Given the description of an element on the screen output the (x, y) to click on. 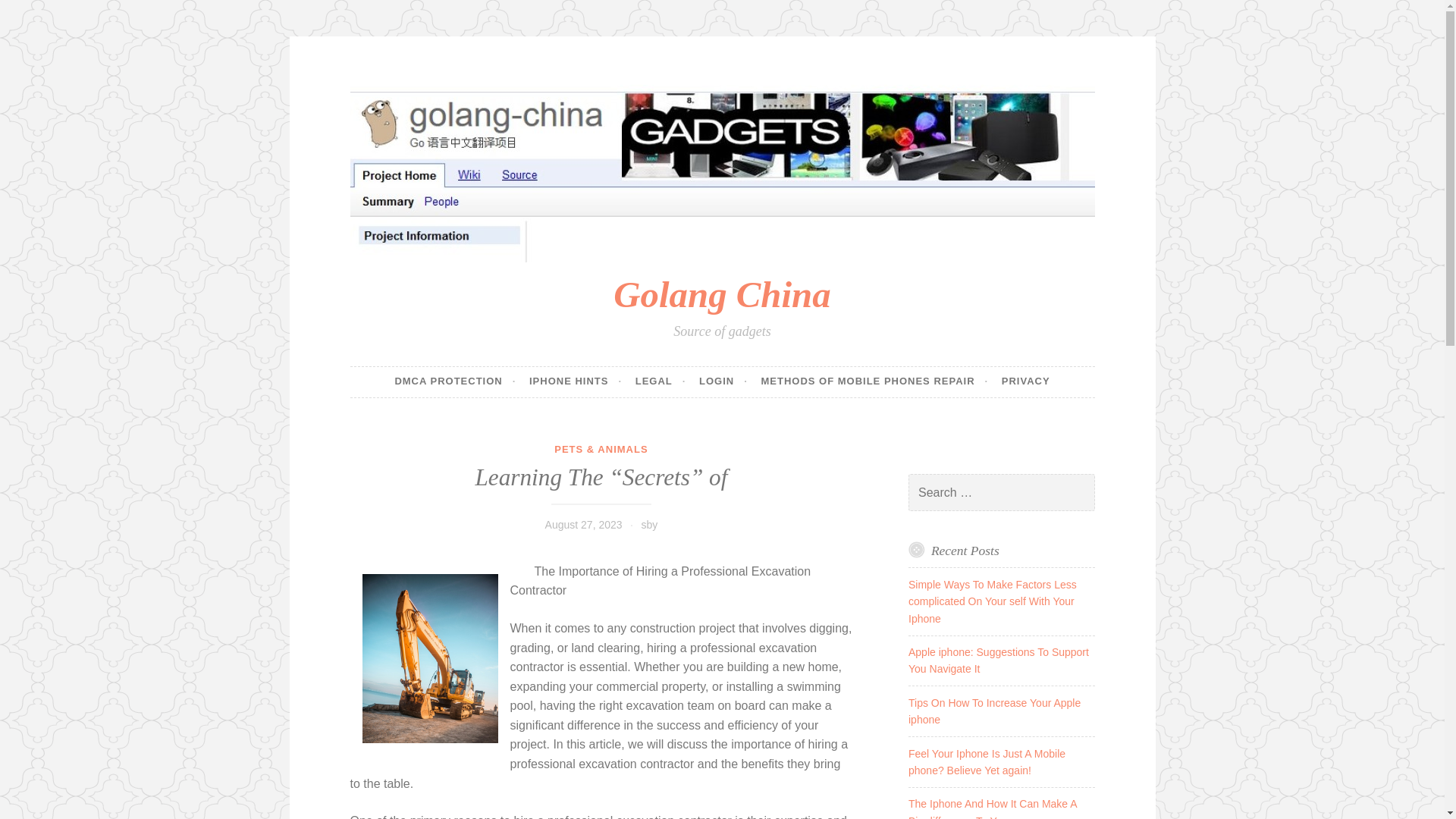
Apple iphone: Suggestions To Support You Navigate It (998, 660)
LEGAL (659, 381)
The Iphone And How It Can Make A Big difference To You (992, 808)
August 27, 2023 (583, 524)
DMCA PROTECTION (454, 381)
IPHONE HINTS (575, 381)
Search (33, 13)
PRIVACY (1025, 381)
